Given the description of an element on the screen output the (x, y) to click on. 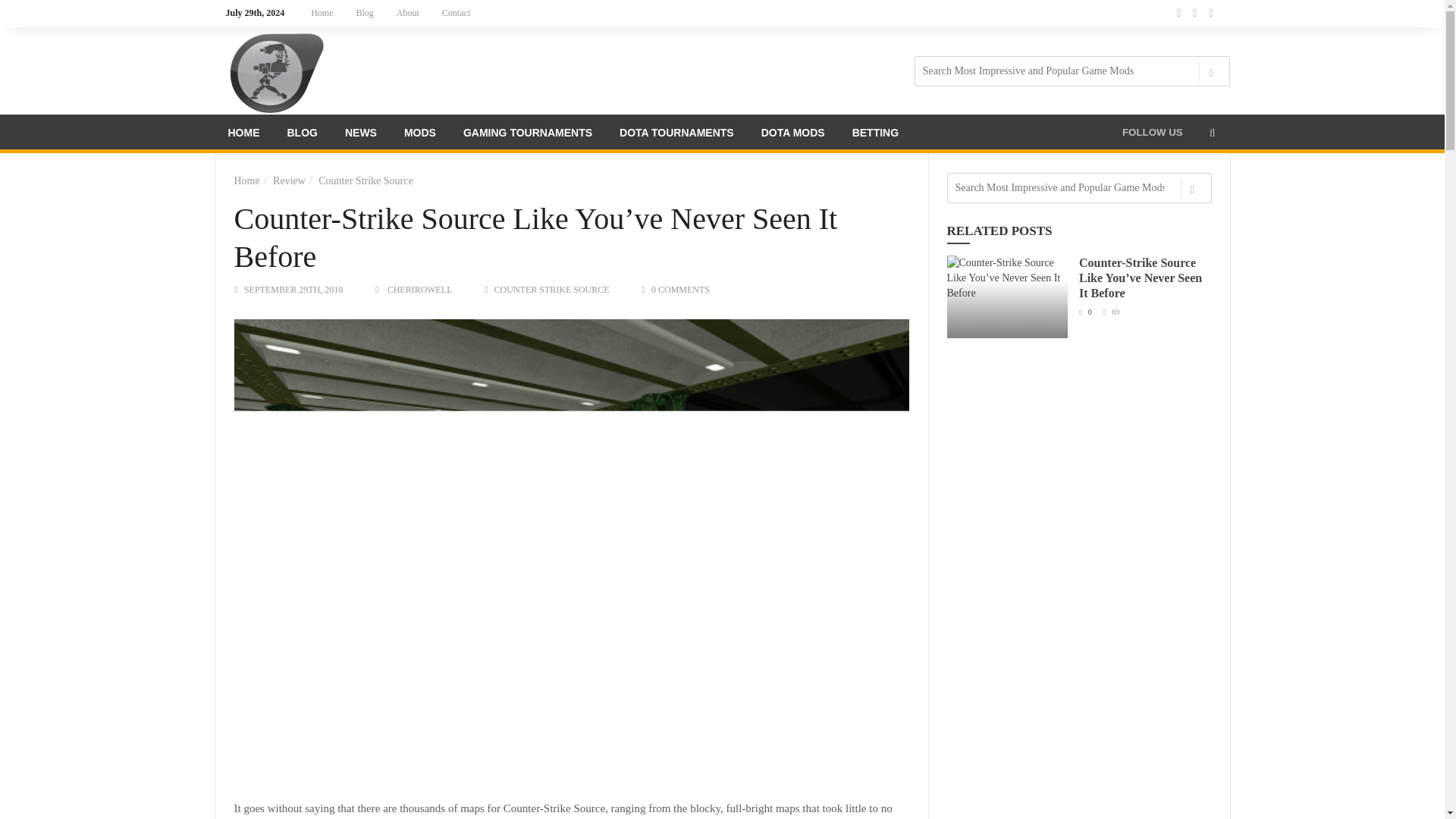
Contact (455, 13)
Home (321, 13)
Blog (365, 13)
Review (289, 180)
NEWS (360, 134)
HOME (243, 134)
DOTA TOURNAMENTS (676, 134)
DOTA MODS (793, 134)
GAMING TOURNAMENTS (527, 134)
Counter Strike Source (365, 180)
BLOG (301, 134)
About (407, 13)
MODS (419, 134)
BETTING (875, 134)
View all posts in Counter Strike Source (552, 289)
